Given the description of an element on the screen output the (x, y) to click on. 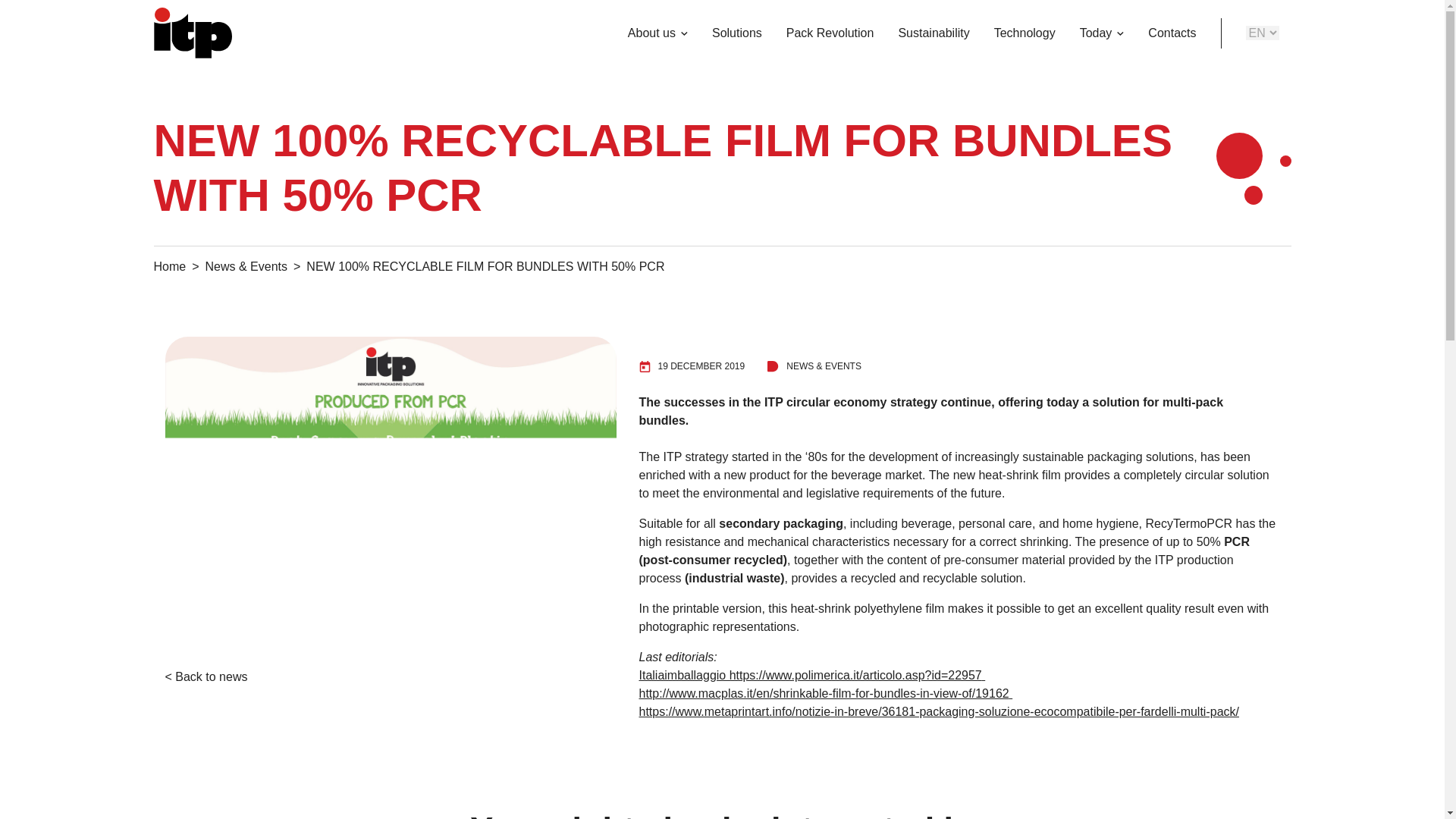
Home (169, 266)
Today (1095, 33)
Technology (1024, 33)
Contacts (1171, 33)
Solutions (737, 33)
Pack Revolution (830, 33)
About us (651, 33)
Sustainability (933, 33)
